Given the description of an element on the screen output the (x, y) to click on. 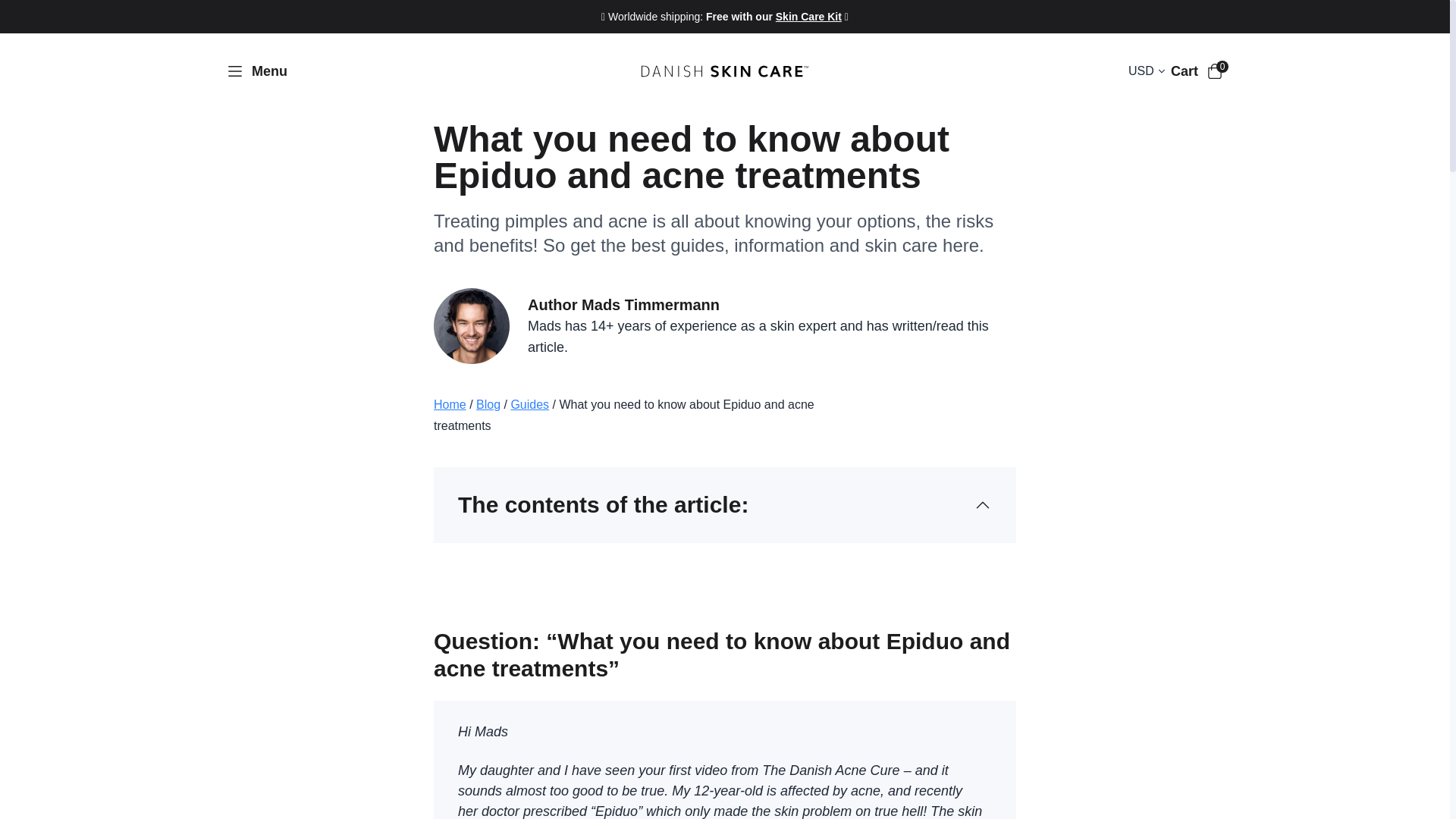
Menu (257, 70)
Blog (488, 404)
Home (449, 404)
Guides (529, 404)
USD (1147, 70)
Skin Care Kit (808, 16)
